Given the description of an element on the screen output the (x, y) to click on. 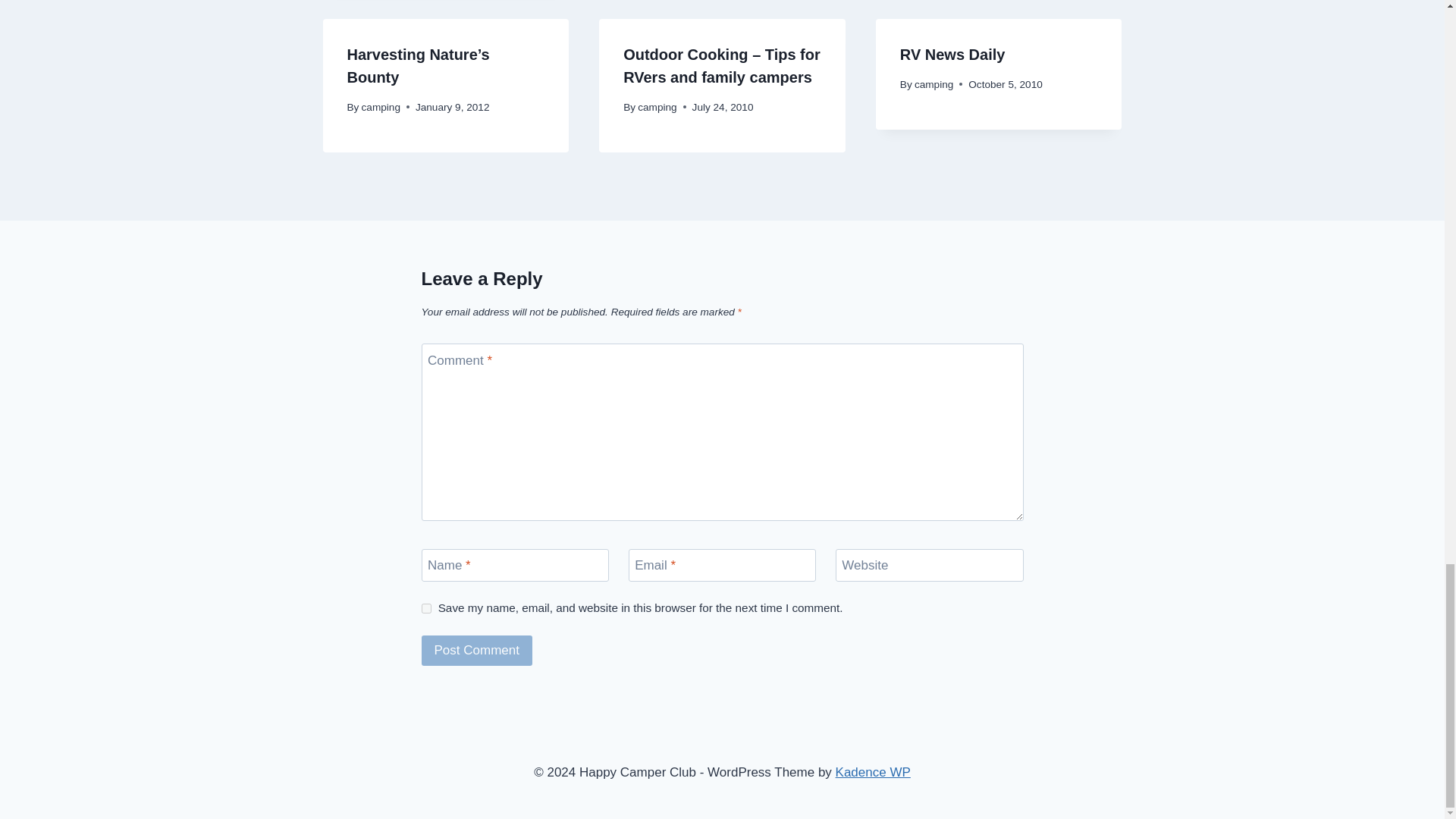
Post Comment (477, 650)
yes (426, 608)
camping (380, 107)
Kadence WP (873, 771)
camping (657, 107)
camping (933, 84)
RV News Daily (952, 54)
Post Comment (477, 650)
